Given the description of an element on the screen output the (x, y) to click on. 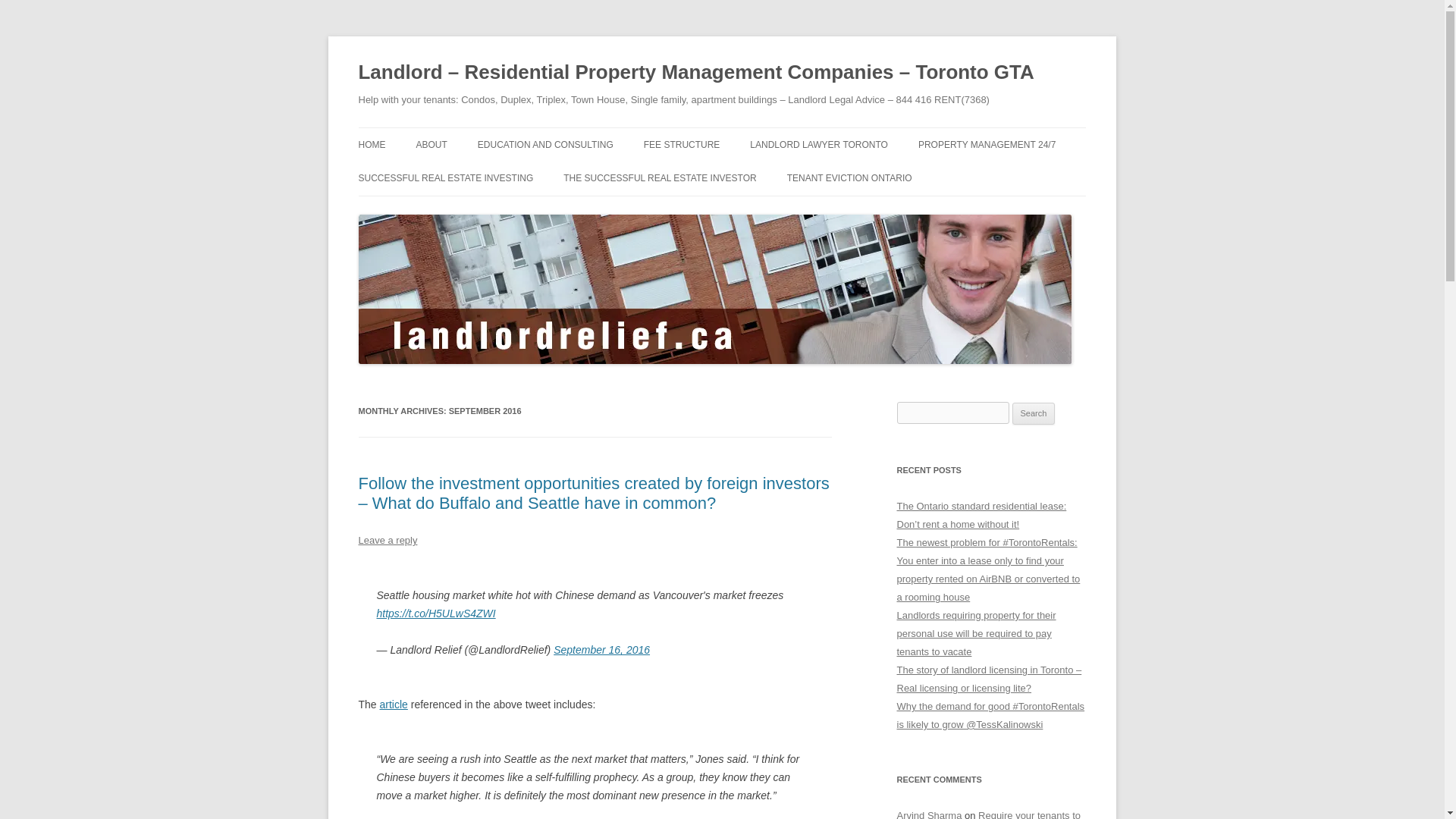
Leave a reply (387, 540)
THE SUCCESSFUL REAL ESTATE INVESTOR (660, 177)
APPEALING YOUR PROPERTY TAXES IN ONTARIO (552, 185)
EDUCATION AND CONSULTING (544, 144)
SUCCESSFUL REAL ESTATE INVESTING (445, 177)
ENSURING HIGH OCCUPANCY (994, 176)
ABOUT (430, 144)
Search (1033, 413)
FEE STRUCTURE (681, 144)
MORTGAGE METHODS (433, 210)
LANDLORD LAWYER TORONTO (818, 144)
September 16, 2016 (601, 649)
TENANT EVICTION ONTARIO (849, 177)
